Given the description of an element on the screen output the (x, y) to click on. 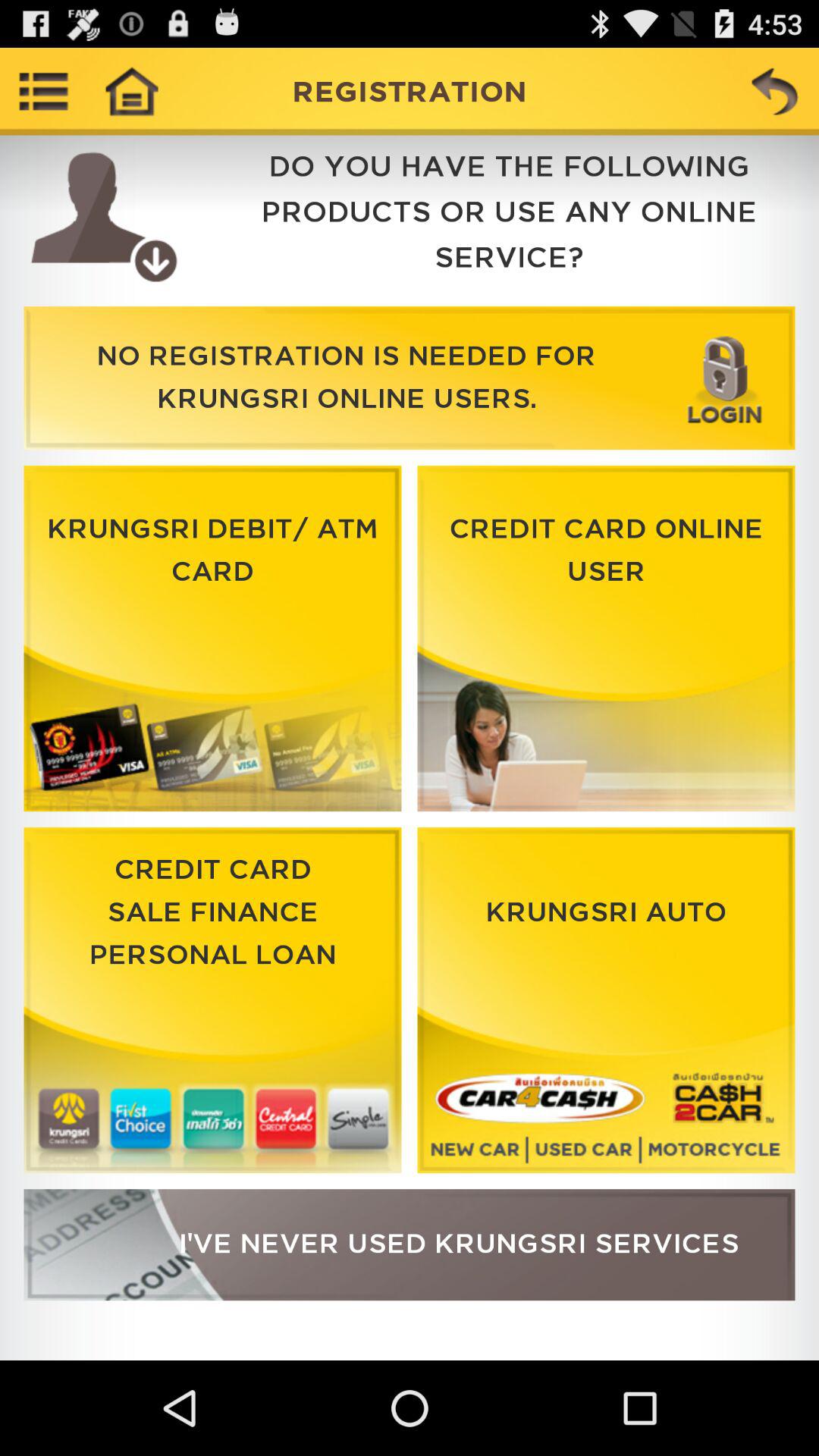
shows krungsri auto option (606, 1000)
